Given the description of an element on the screen output the (x, y) to click on. 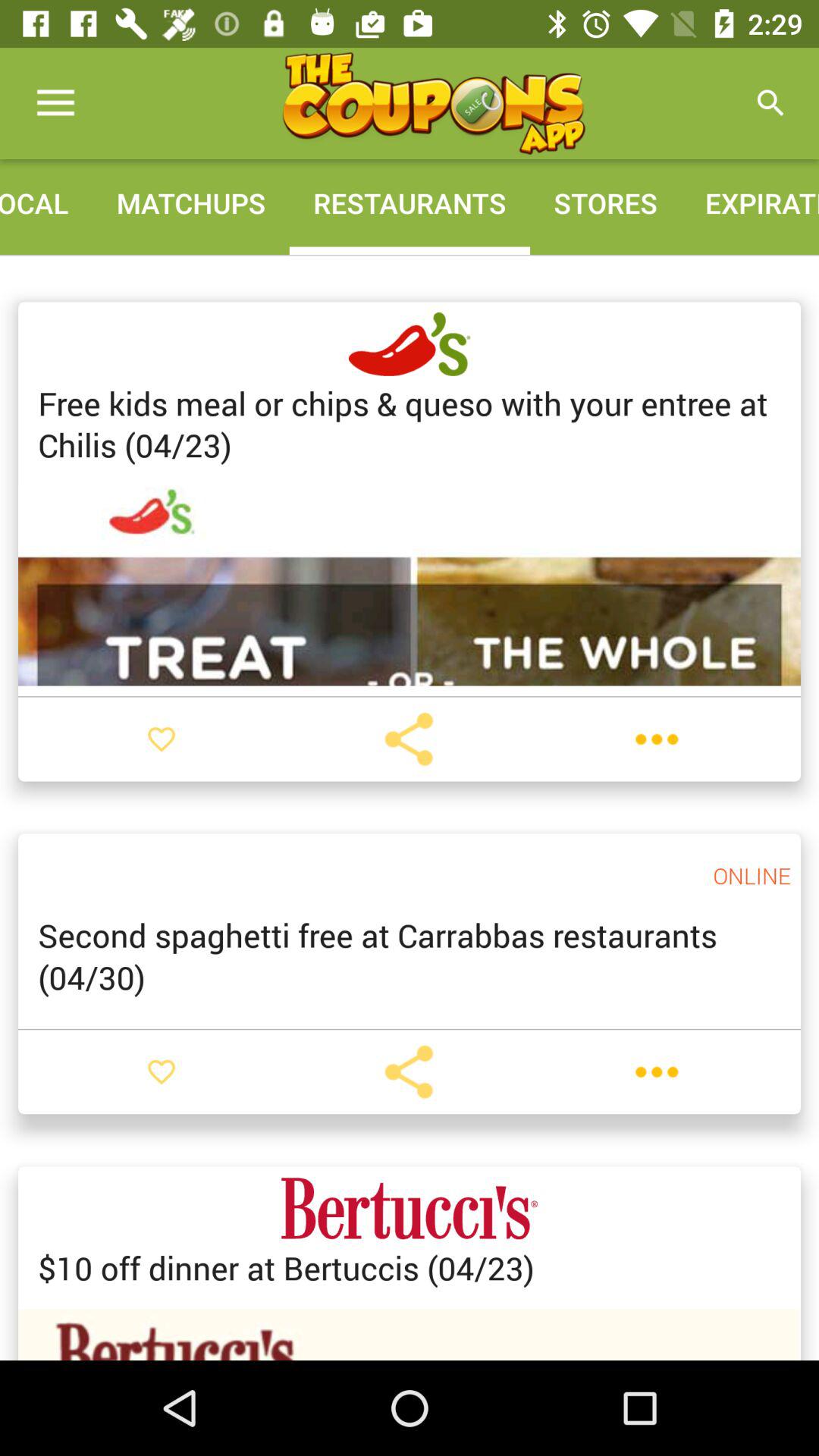
share the coupon (408, 1071)
